Given the description of an element on the screen output the (x, y) to click on. 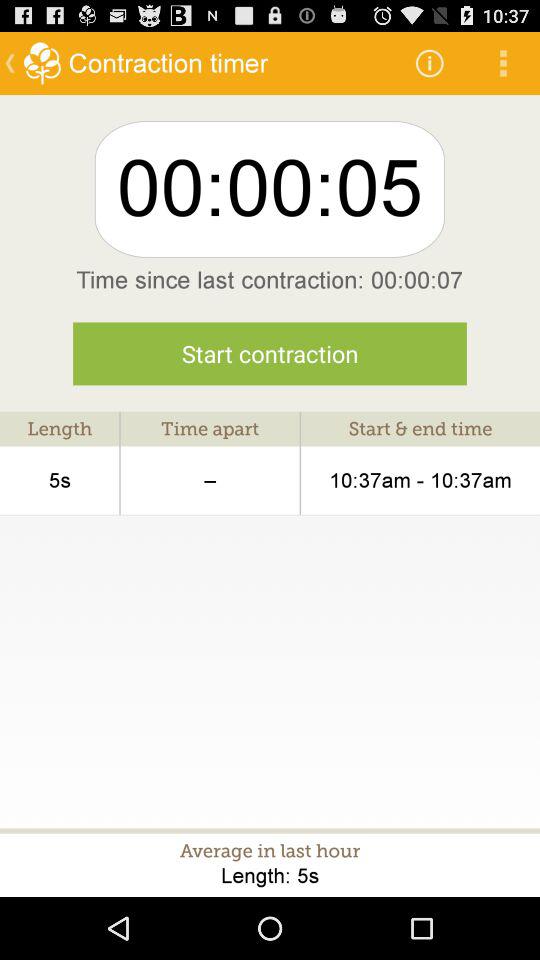
launch icon to the left of the start & end time icon (209, 480)
